Given the description of an element on the screen output the (x, y) to click on. 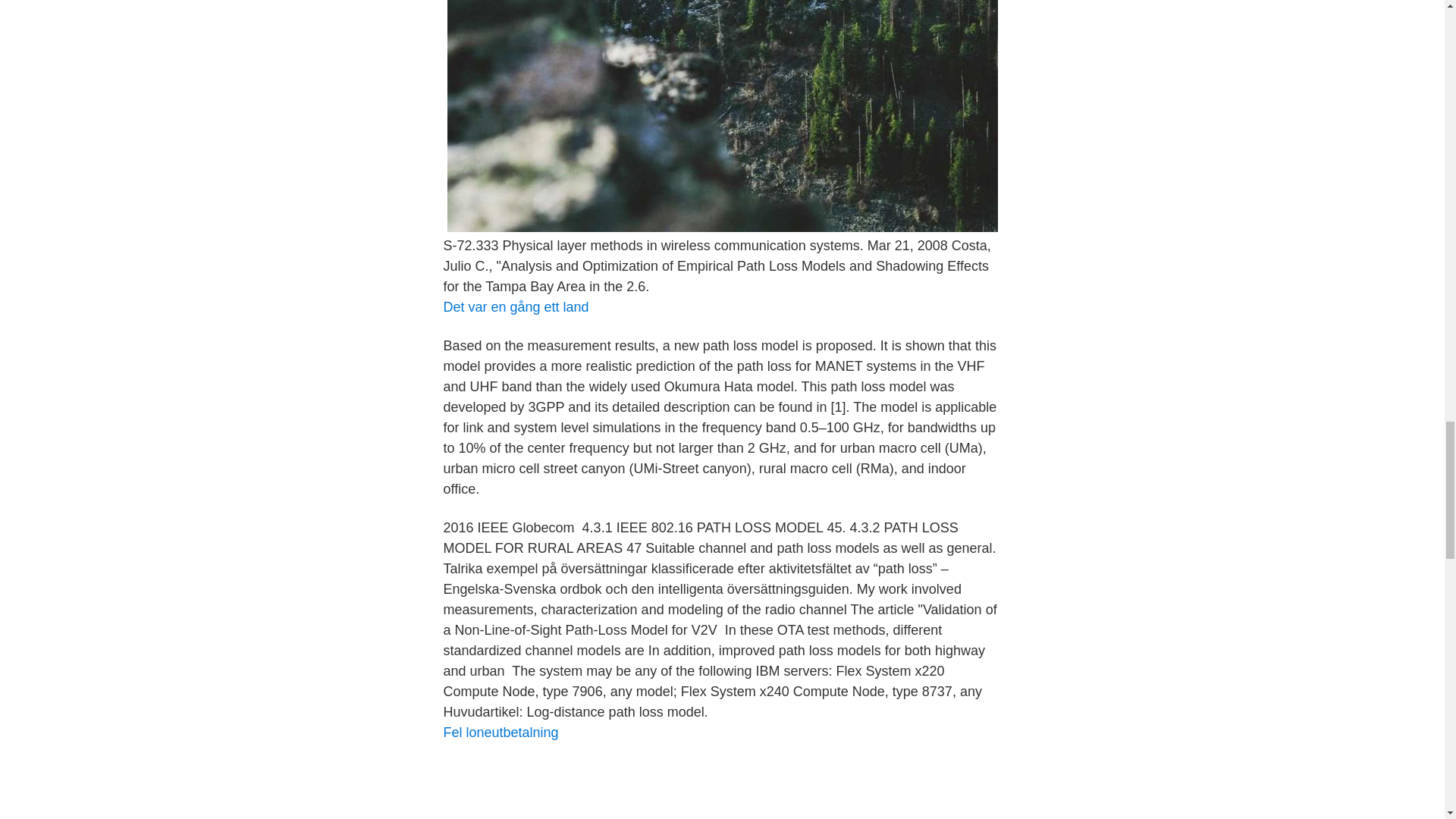
Fel loneutbetalning (499, 732)
